Given the description of an element on the screen output the (x, y) to click on. 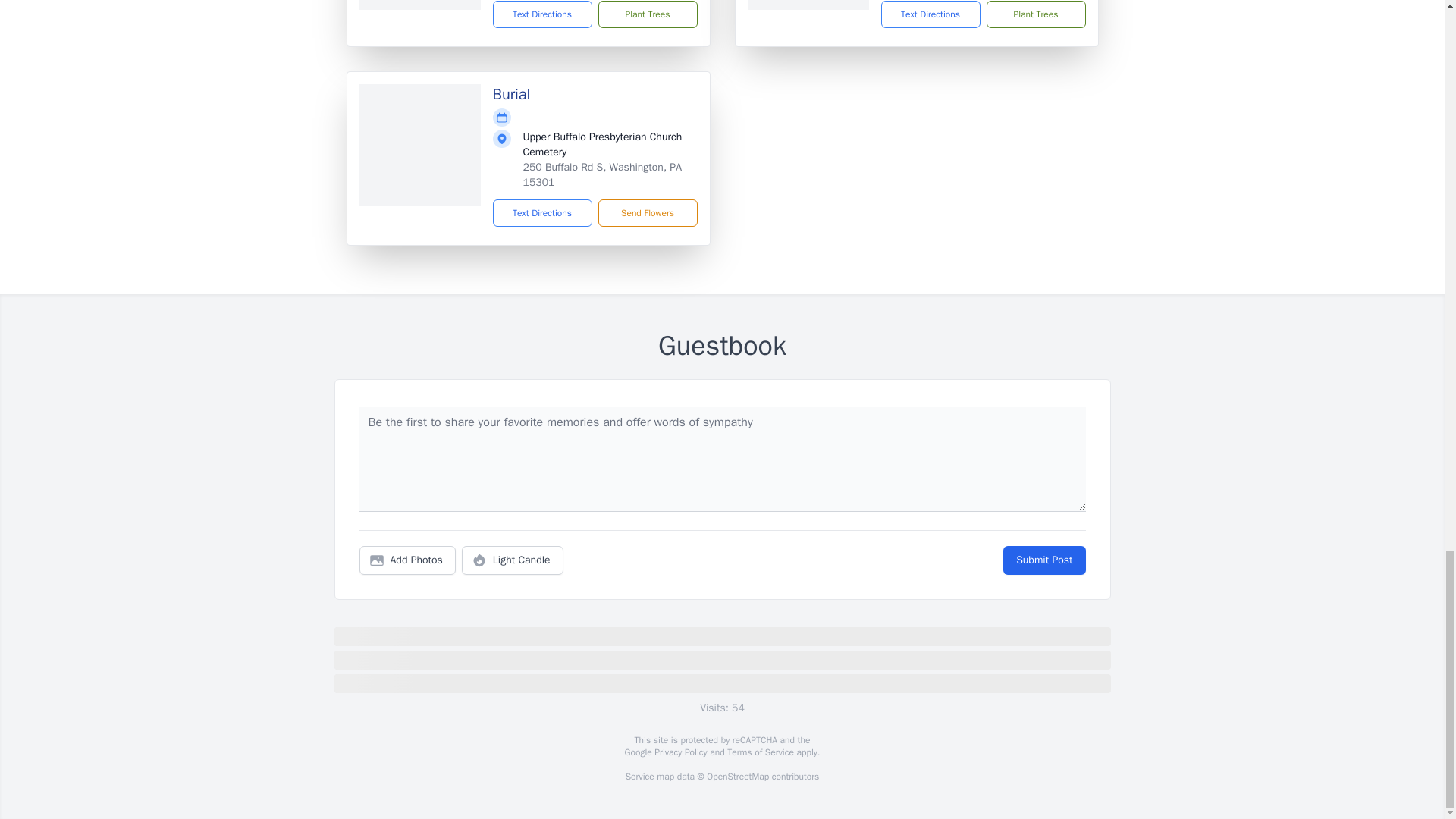
Send Flowers (646, 212)
Text Directions (929, 13)
Plant Trees (646, 13)
Add Photos (407, 560)
Light Candle (512, 560)
250 Buffalo Rd S, Washington, PA 15301 (601, 174)
Plant Trees (1034, 13)
Text Directions (542, 212)
Privacy Policy (679, 752)
Submit Post (1043, 560)
